Given the description of an element on the screen output the (x, y) to click on. 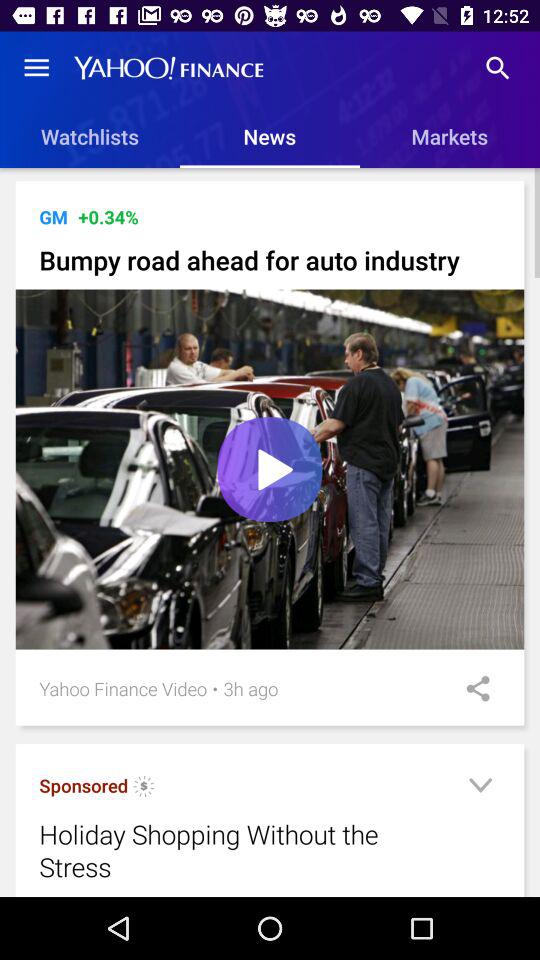
tap bumpy road ahead item (269, 259)
